Given the description of an element on the screen output the (x, y) to click on. 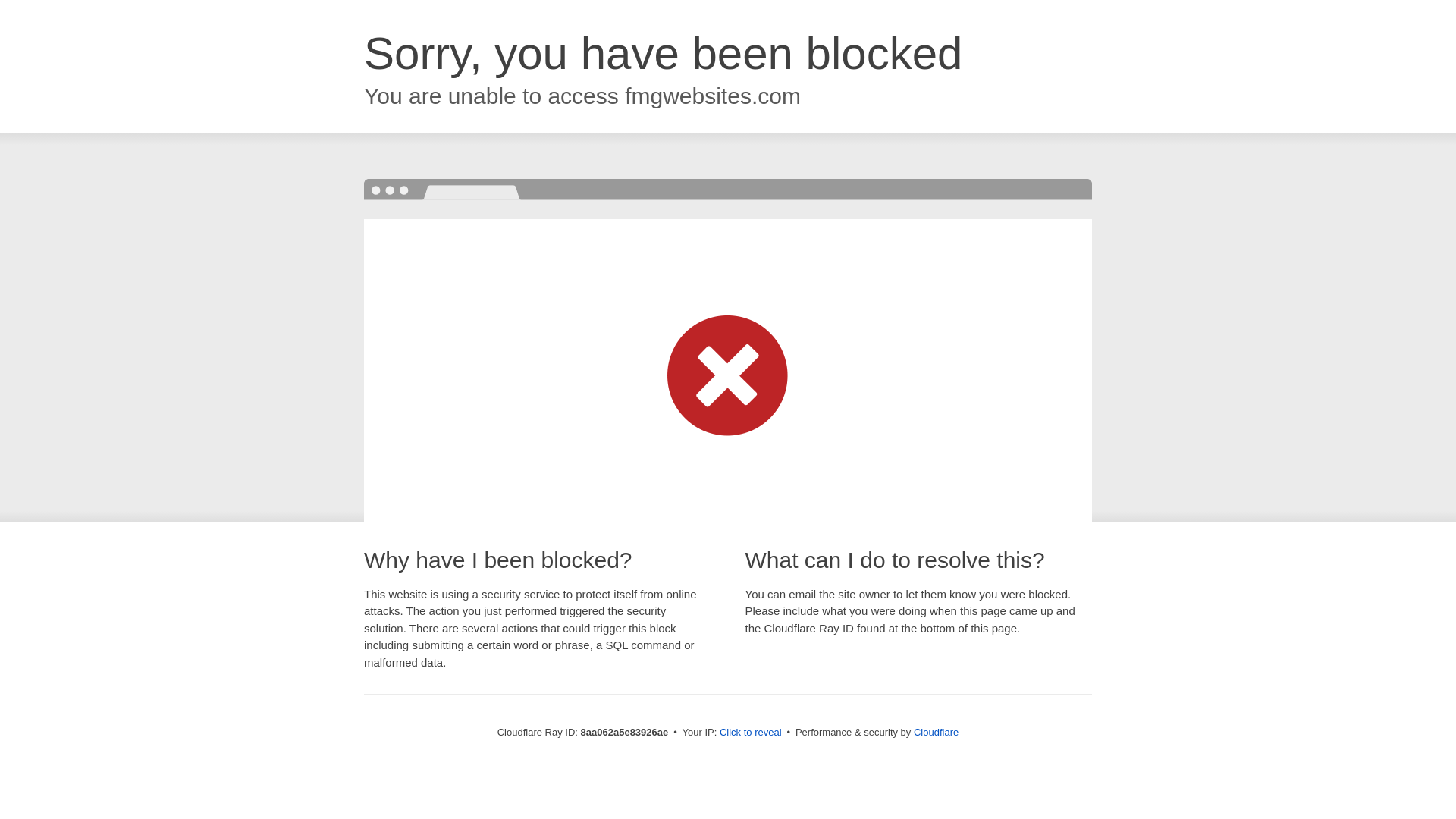
Click to reveal (750, 732)
Cloudflare (936, 731)
